Given the description of an element on the screen output the (x, y) to click on. 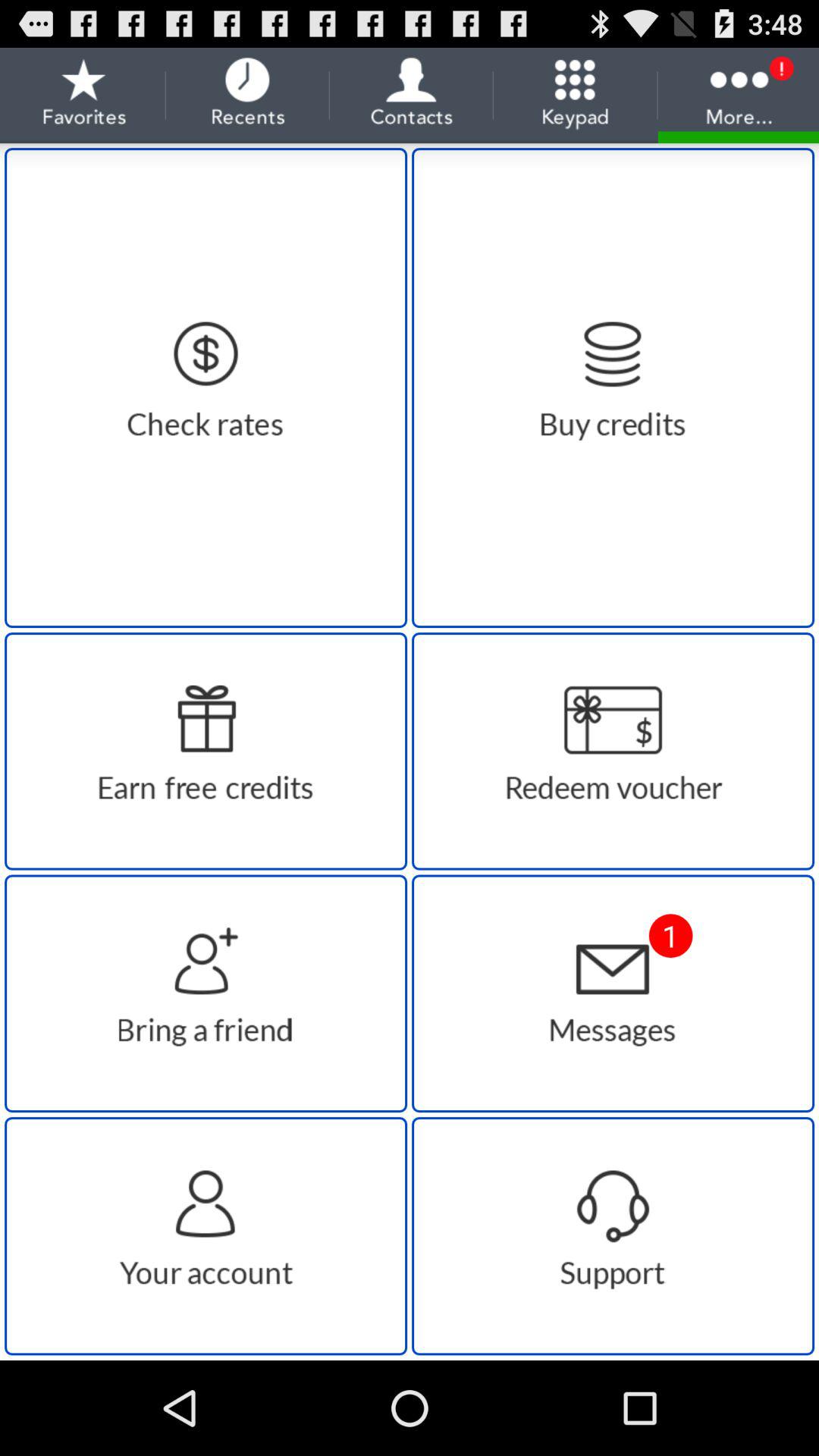
go to earn free credits page (205, 751)
